Given the description of an element on the screen output the (x, y) to click on. 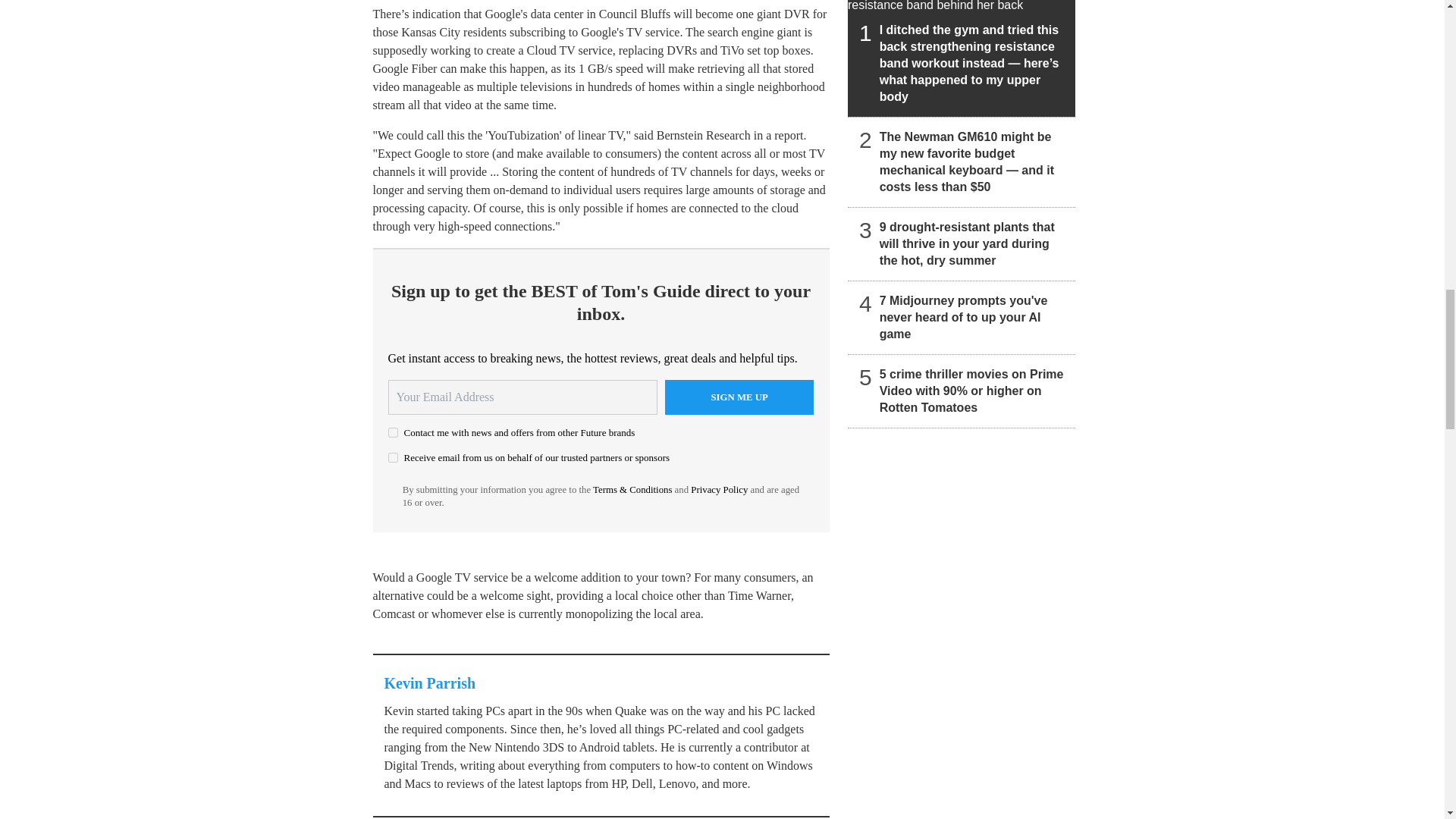
on (392, 432)
on (392, 457)
Sign me up (739, 397)
